Given the description of an element on the screen output the (x, y) to click on. 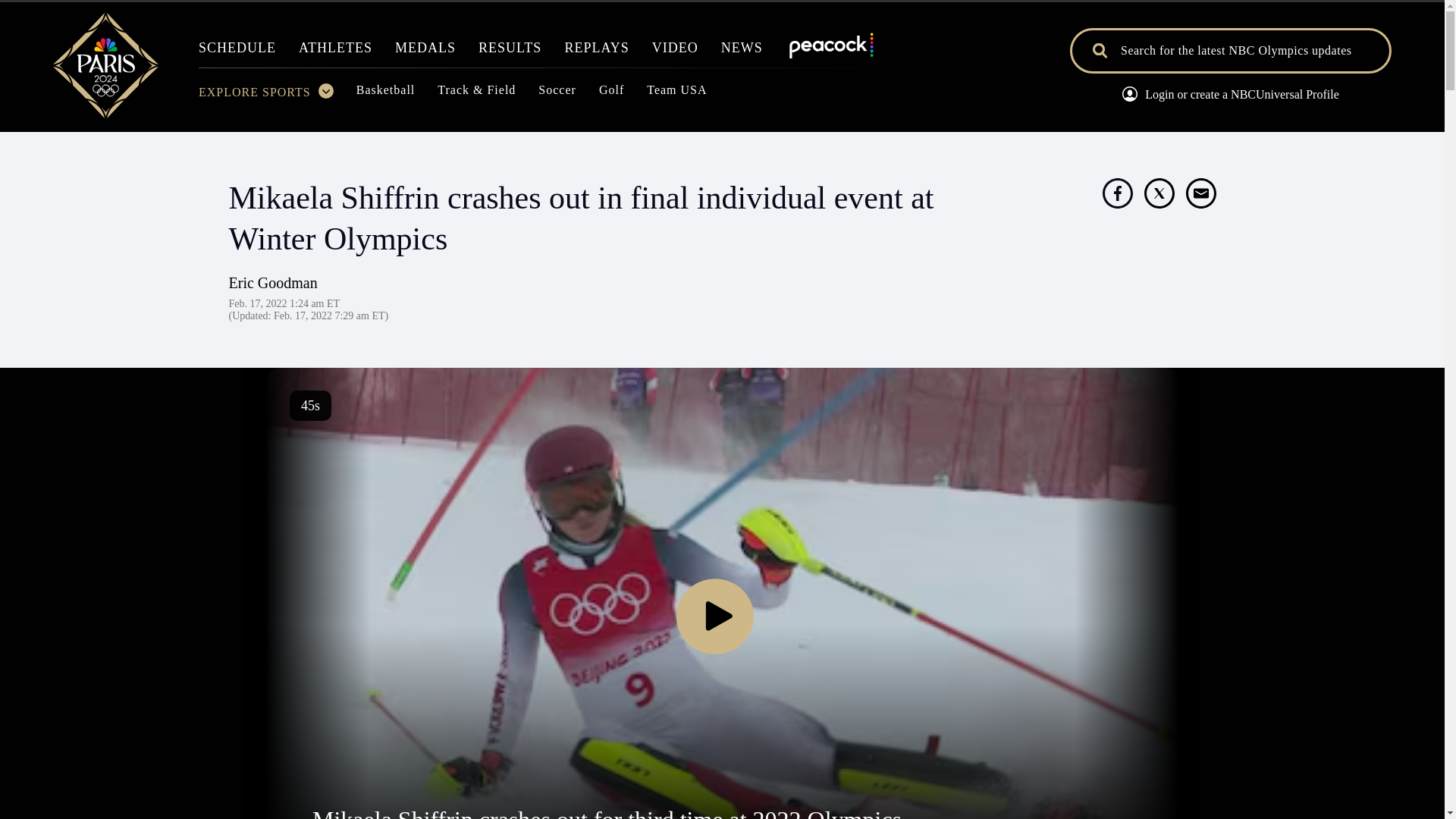
Basketball (385, 93)
SCHEDULE (237, 51)
RESULTS (510, 51)
REPLAYS (596, 51)
MEDALS (424, 51)
Mikaela Shiffrin crashes out for third time at 2022 Olympics (607, 812)
Login or create a NBCUniversal Profile (1229, 95)
Team USA (676, 93)
